Given the description of an element on the screen output the (x, y) to click on. 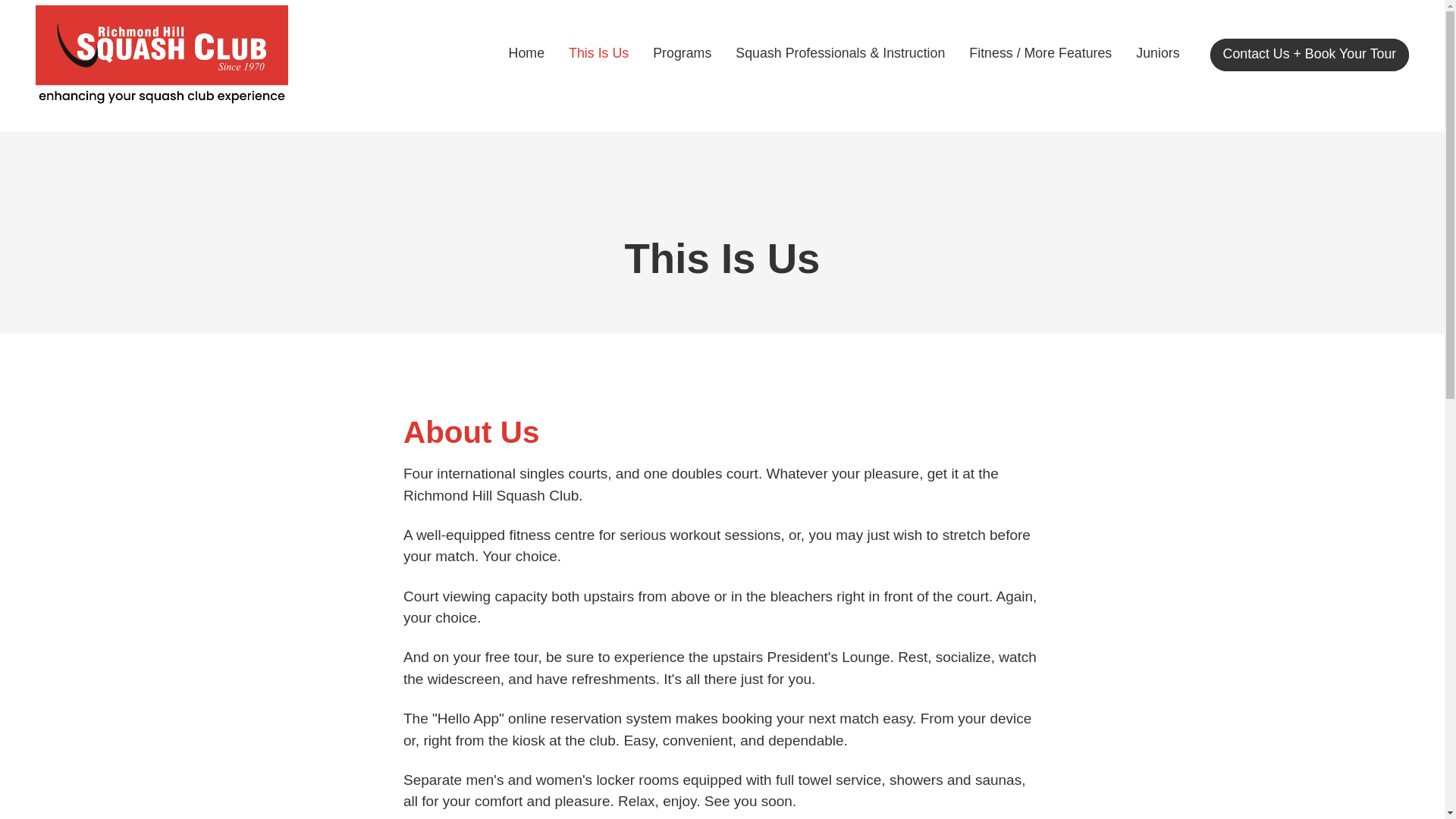
Programs (681, 52)
This Is Us (598, 52)
Home (526, 52)
Juniors (1157, 52)
